Given the description of an element on the screen output the (x, y) to click on. 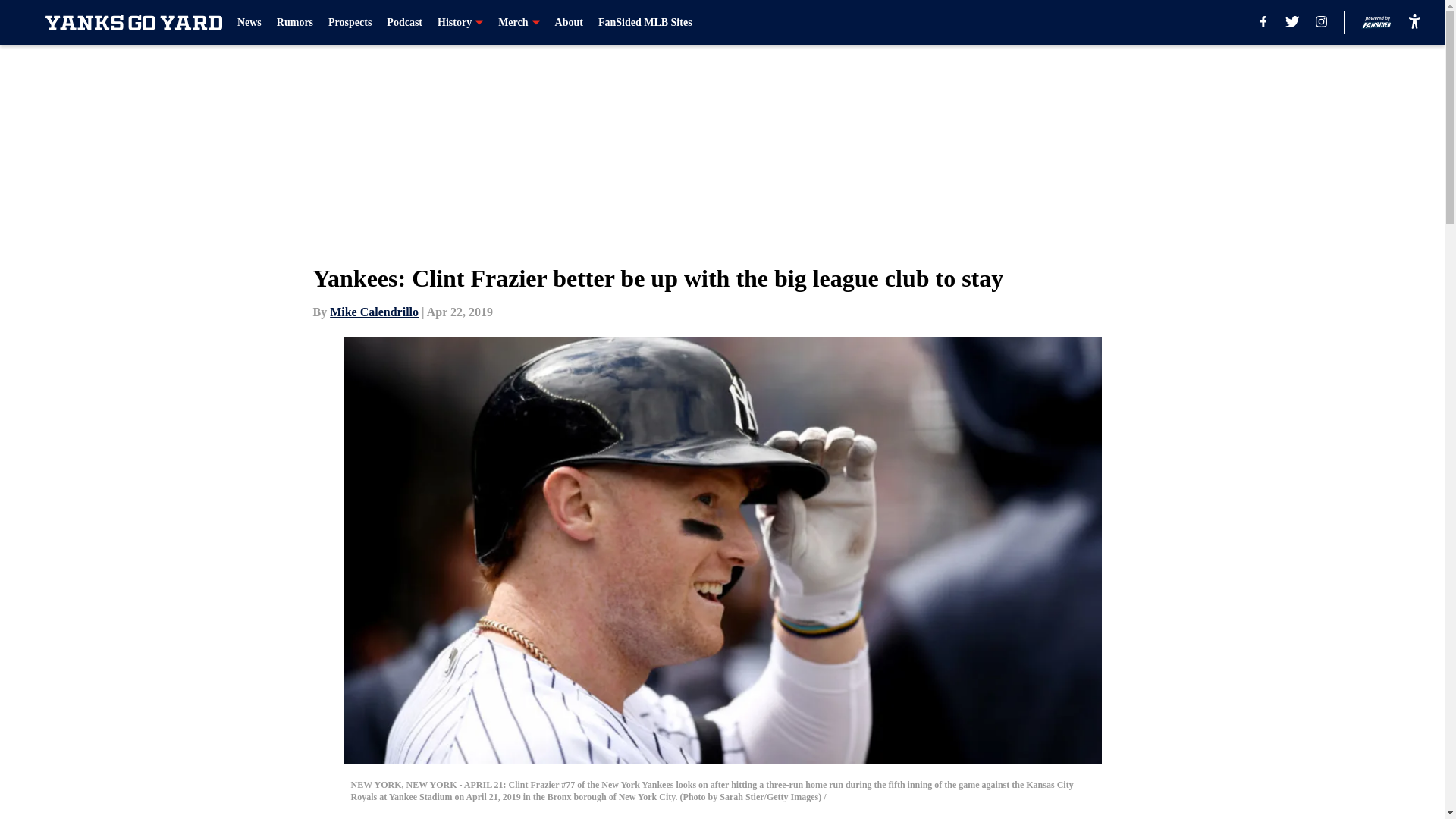
Podcast (404, 22)
Prospects (350, 22)
FanSided MLB Sites (645, 22)
News (249, 22)
About (568, 22)
Rumors (294, 22)
Mike Calendrillo (374, 311)
